Given the description of an element on the screen output the (x, y) to click on. 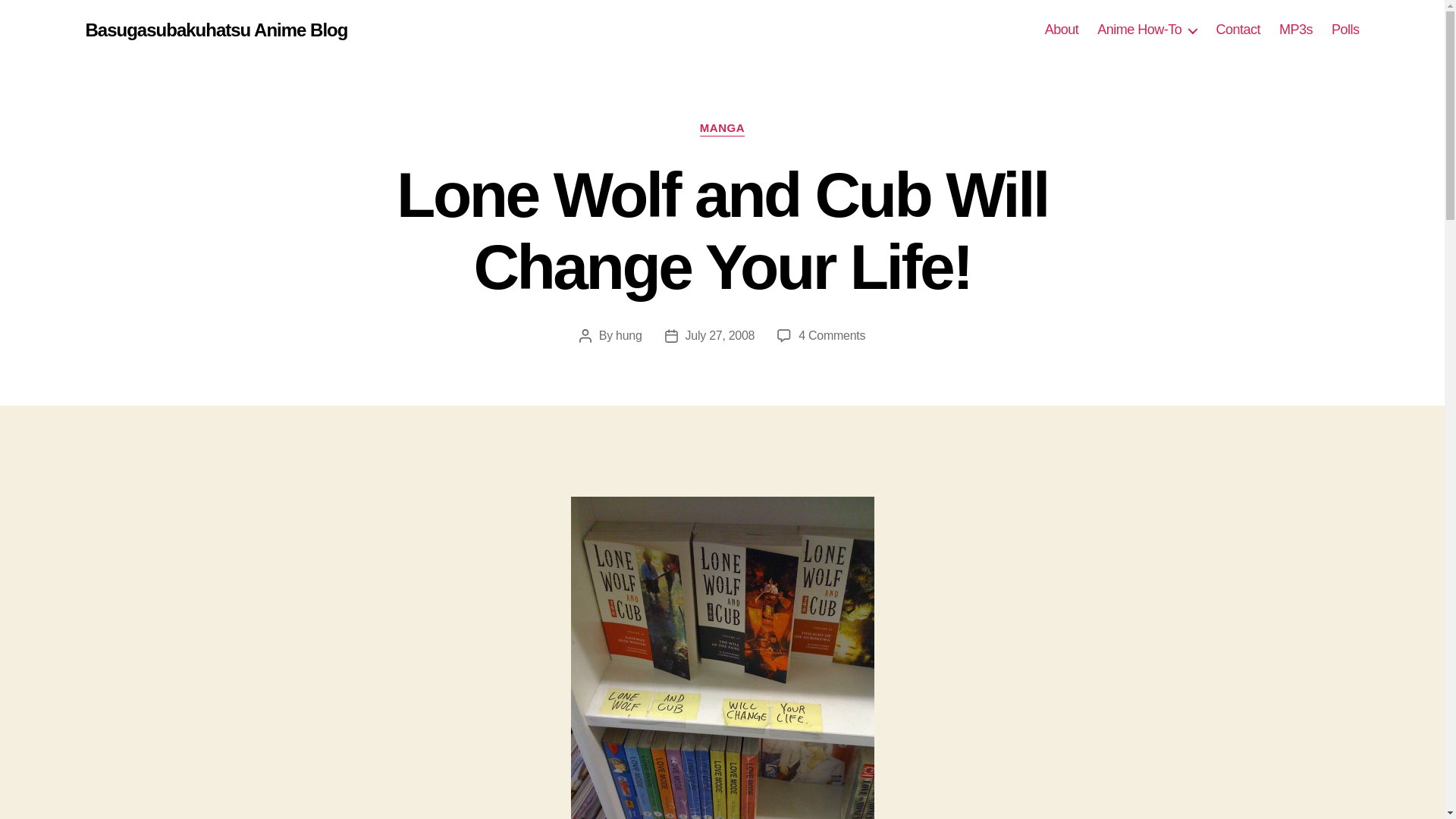
Contact (1237, 30)
hung (628, 335)
Basugasubakuhatsu Anime Blog (215, 30)
MP3s (1296, 30)
MANGA (830, 335)
About (722, 128)
July 27, 2008 (1061, 30)
Polls (720, 335)
Anime How-To (1345, 30)
